Given the description of an element on the screen output the (x, y) to click on. 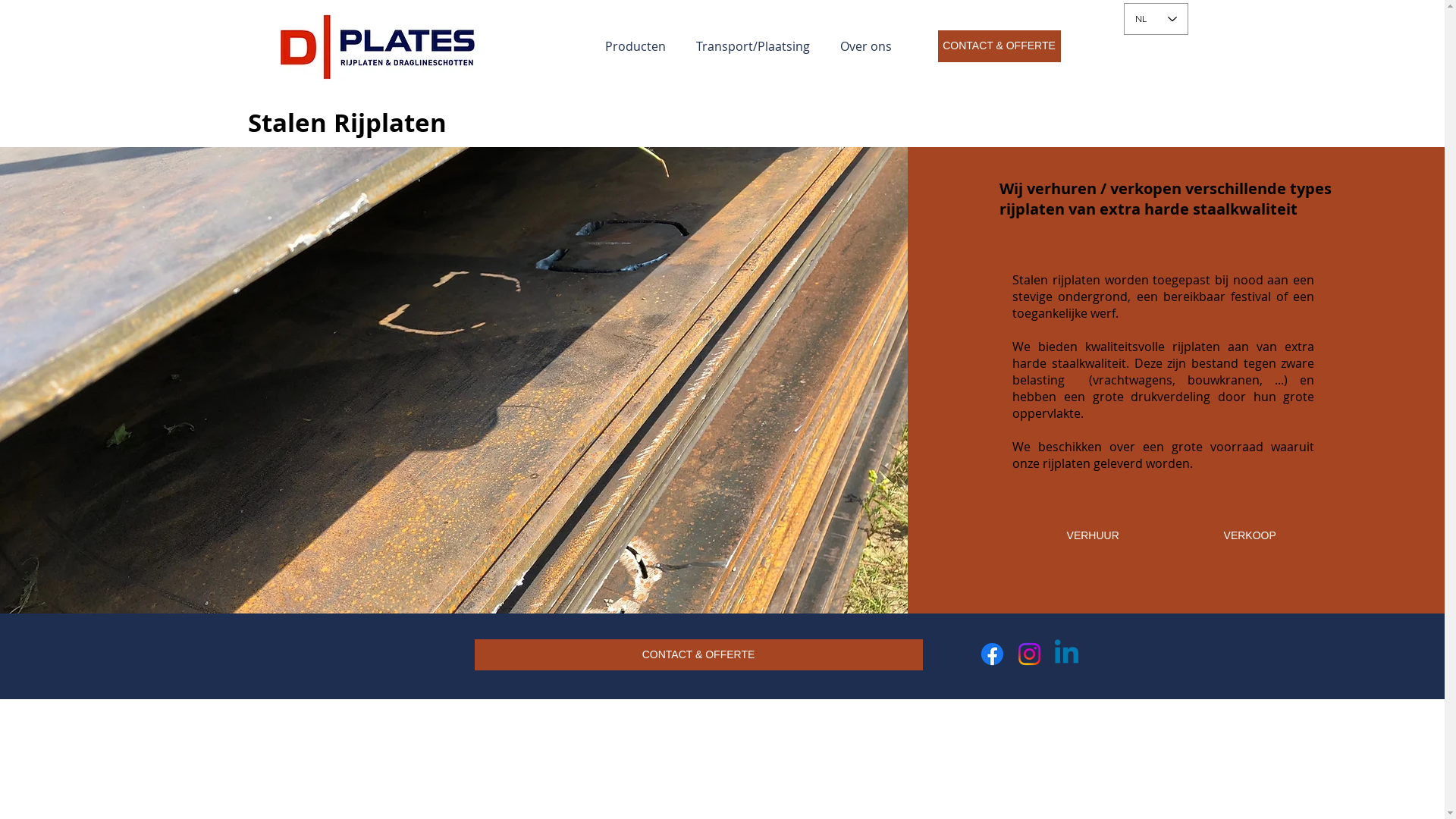
CONTACT & OFFERTE Element type: text (698, 654)
Transport/Plaatsing Element type: text (752, 46)
VERHUUR Element type: text (1092, 536)
CONTACT & OFFERTE Element type: text (998, 46)
VERKOOP Element type: text (1249, 536)
Over ons Element type: text (865, 46)
